Given the description of an element on the screen output the (x, y) to click on. 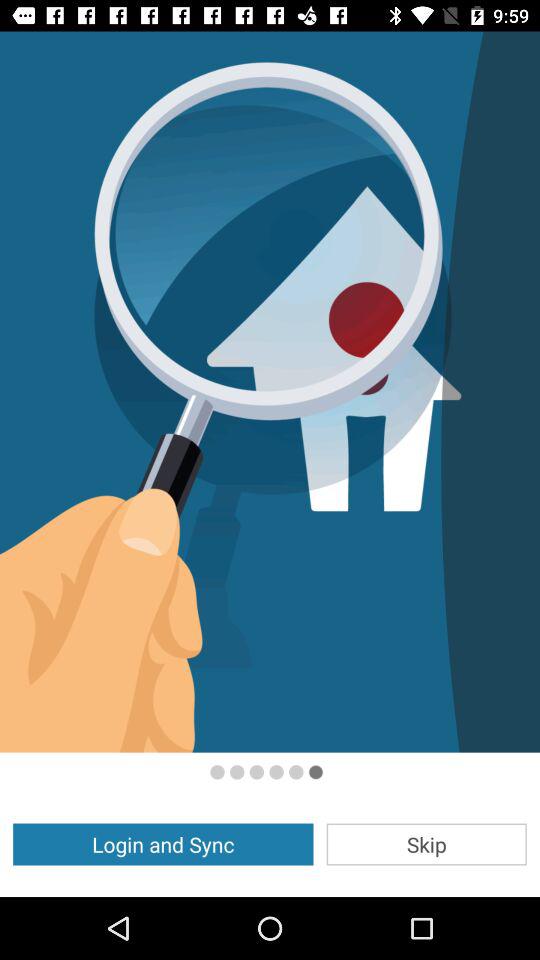
launch item next to the skip app (163, 844)
